Given the description of an element on the screen output the (x, y) to click on. 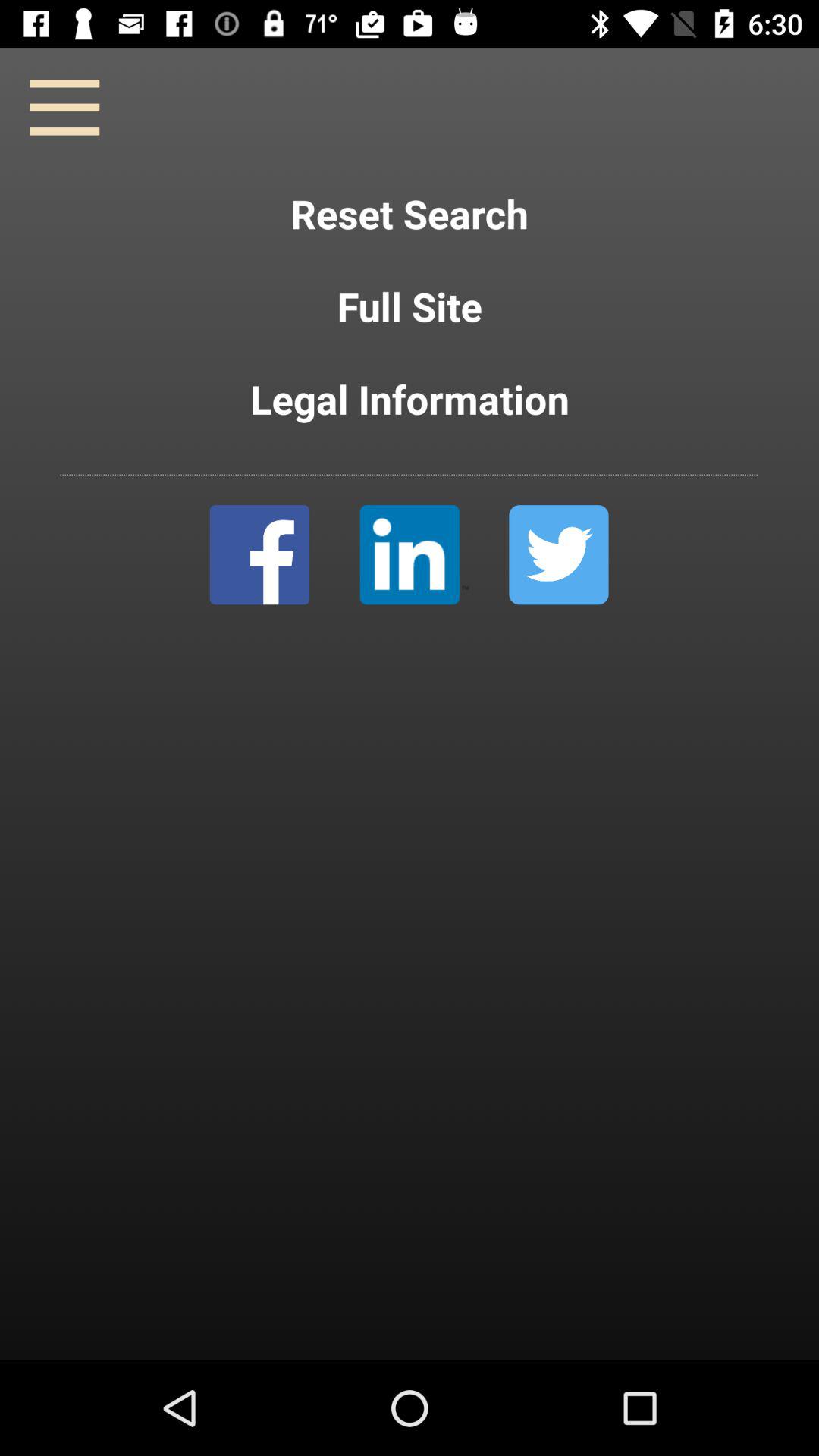
twitter link button (558, 554)
